Given the description of an element on the screen output the (x, y) to click on. 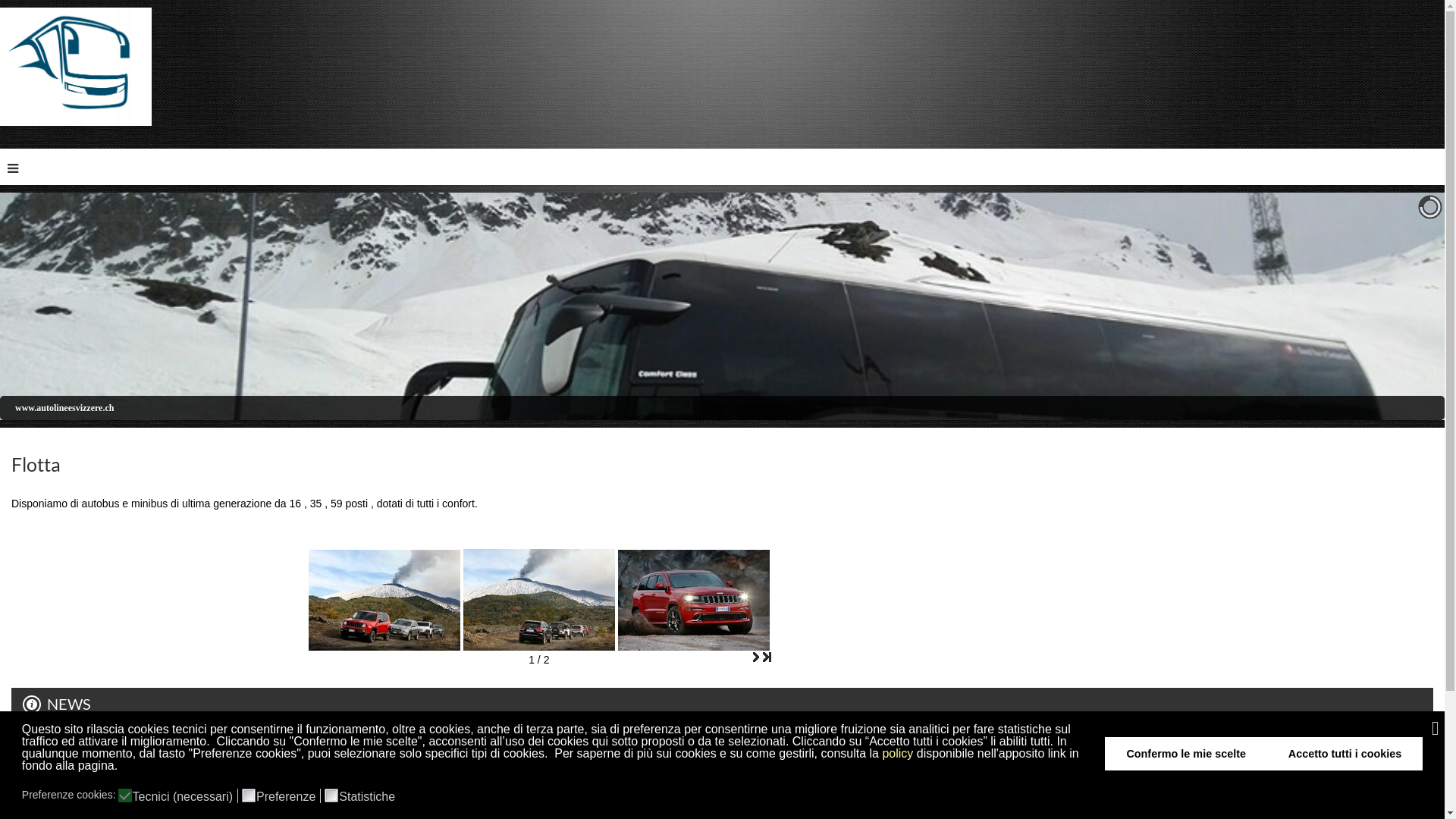
Confermo le mie scelte Element type: text (1185, 753)
Tecnici (necessari) Element type: text (185, 795)
Accetto tutti i cookies Element type: text (1344, 753)
policy Element type: text (897, 752)
Preferenze Element type: text (288, 795)
Statistiche Element type: text (368, 795)
Continua... Element type: text (48, 767)
